Given the description of an element on the screen output the (x, y) to click on. 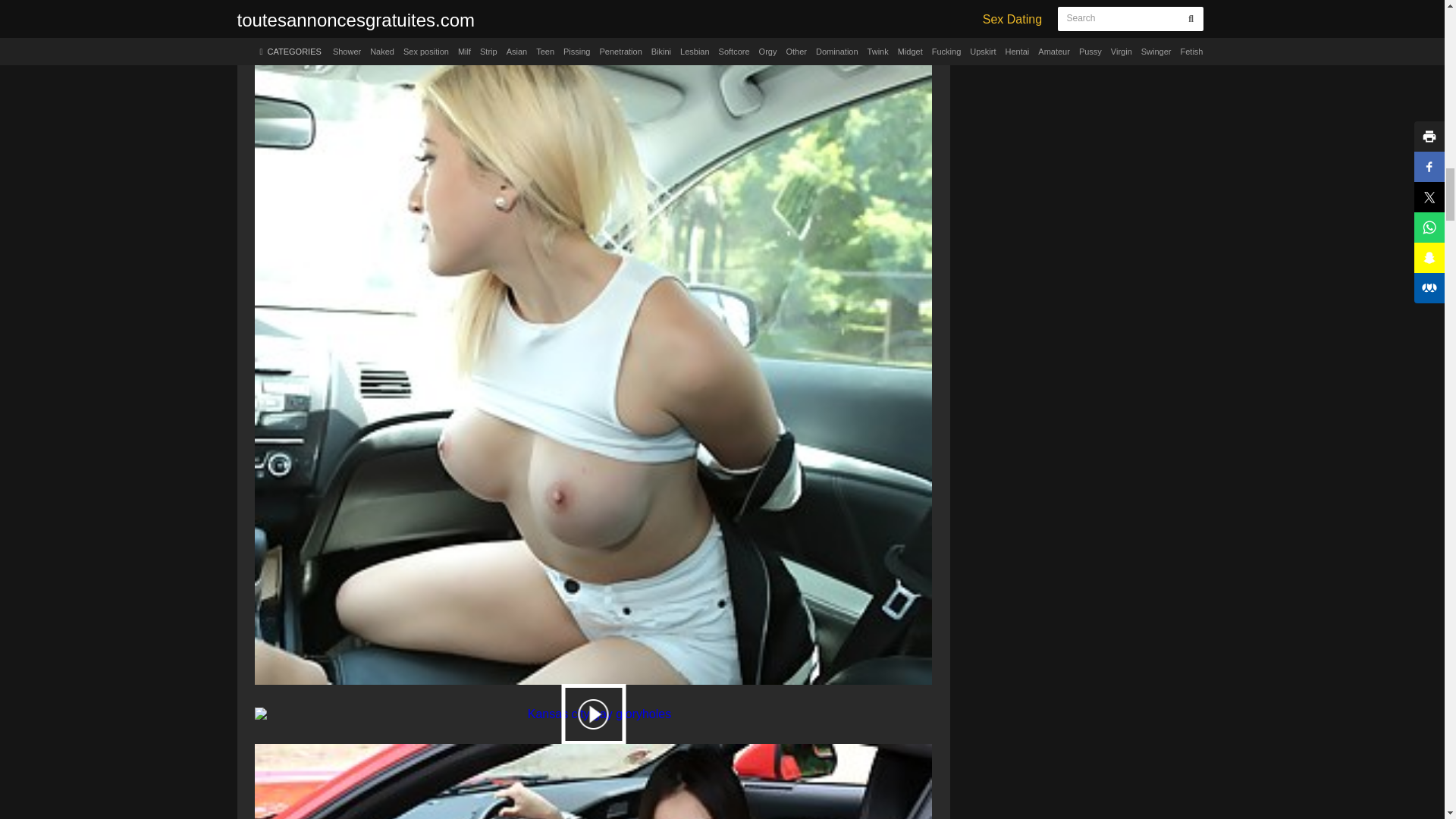
Band folklore local midget nudist private (592, 775)
German granny lesbian fisting (592, 714)
